Given the description of an element on the screen output the (x, y) to click on. 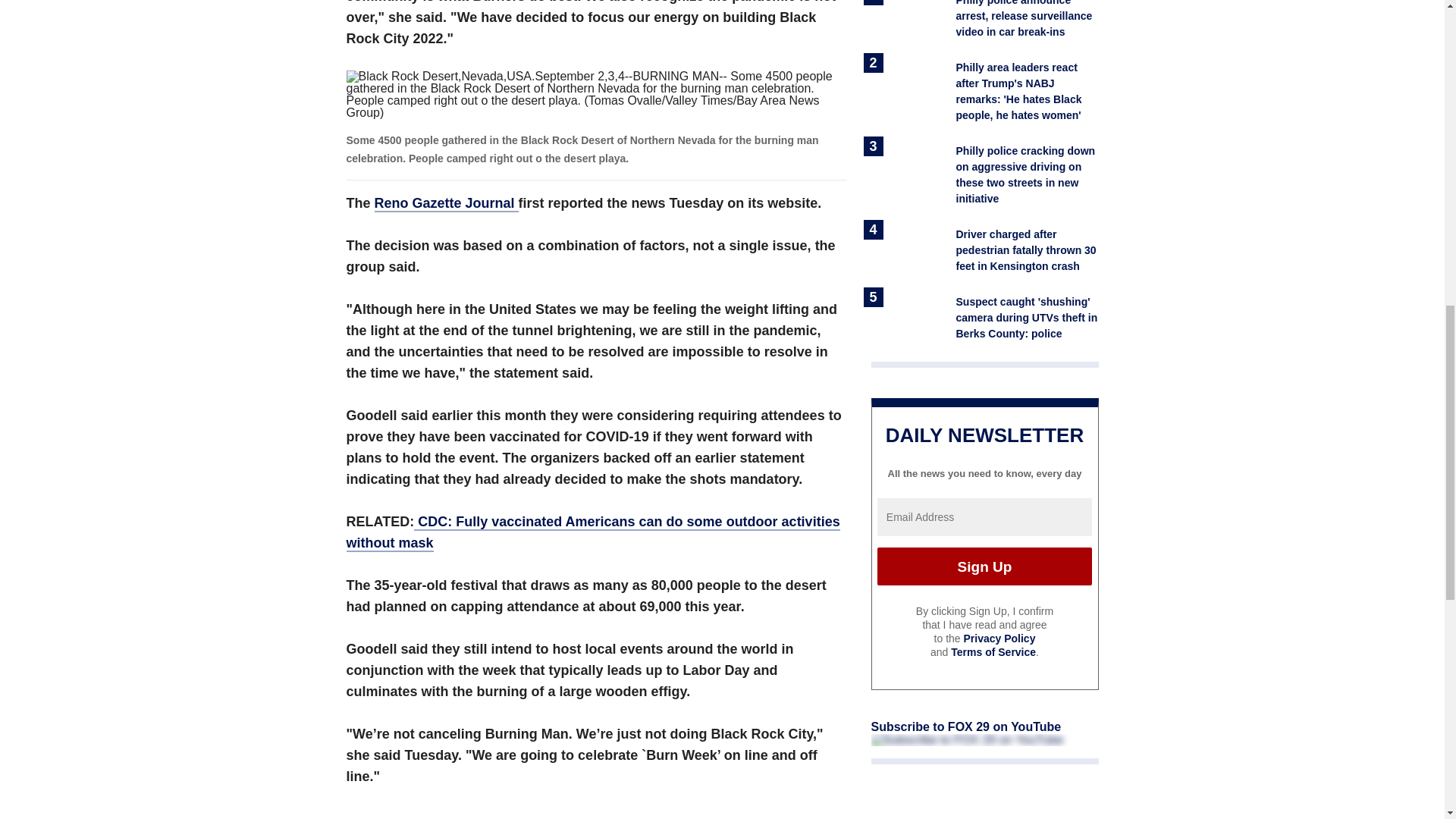
Sign Up (984, 566)
